Given the description of an element on the screen output the (x, y) to click on. 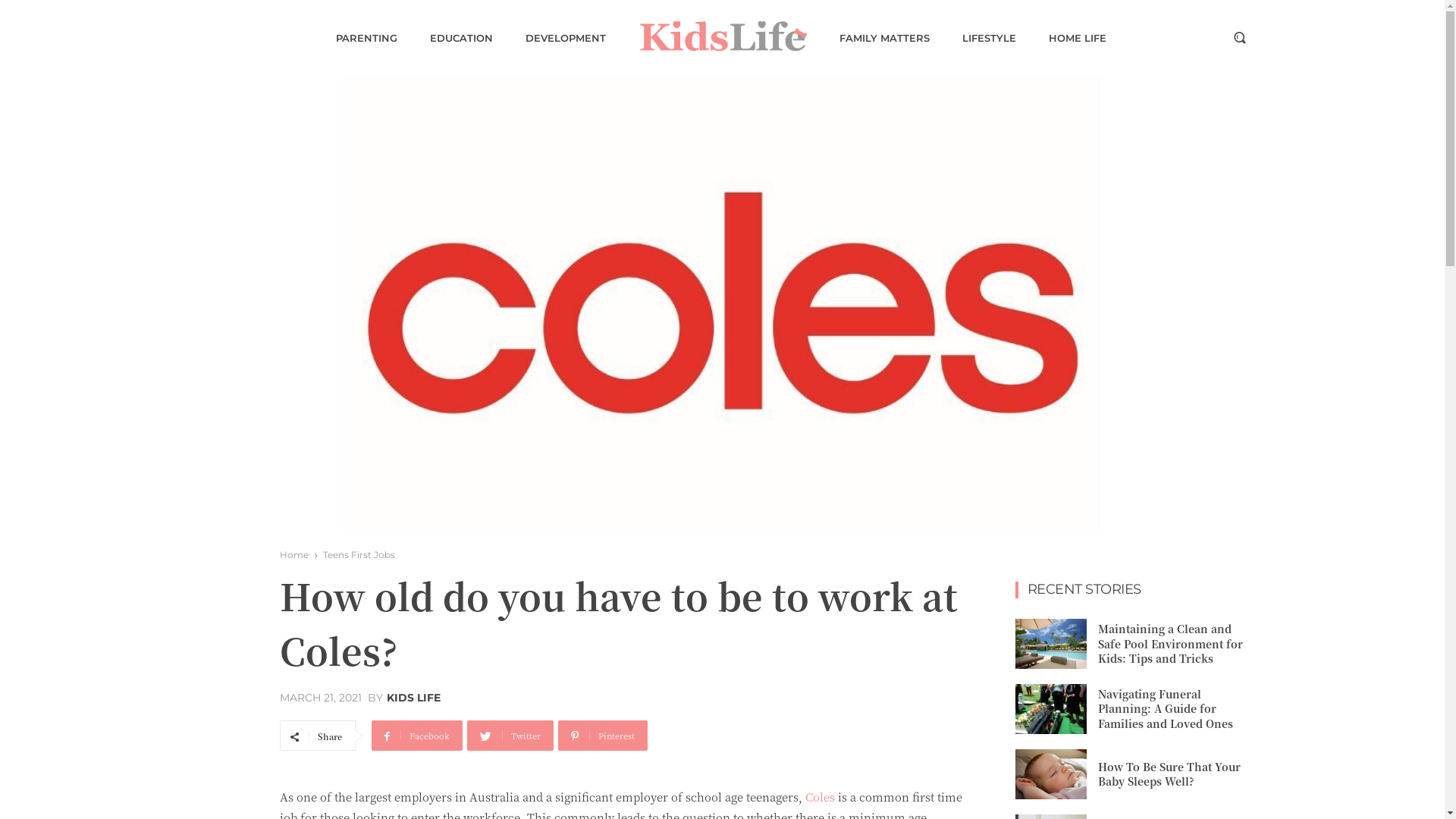
PARENTING Element type: text (365, 37)
EDUCATION Element type: text (460, 37)
KIDS LIFE Element type: text (413, 697)
LIFESTYLE Element type: text (988, 37)
Teens First Jobs Element type: text (359, 554)
Facebook Element type: text (416, 735)
Home Element type: text (293, 554)
HOME LIFE Element type: text (1076, 37)
DEVELOPMENT Element type: text (564, 37)
Twitter Element type: text (510, 735)
Pinterest Element type: text (602, 735)
How To Be Sure That Your Baby Sleeps Well? Element type: text (1169, 774)
FAMILY MATTERS Element type: text (883, 37)
How To Be Sure That Your Baby Sleeps Well? Element type: hover (1049, 774)
Coles Element type: text (819, 796)
